Given the description of an element on the screen output the (x, y) to click on. 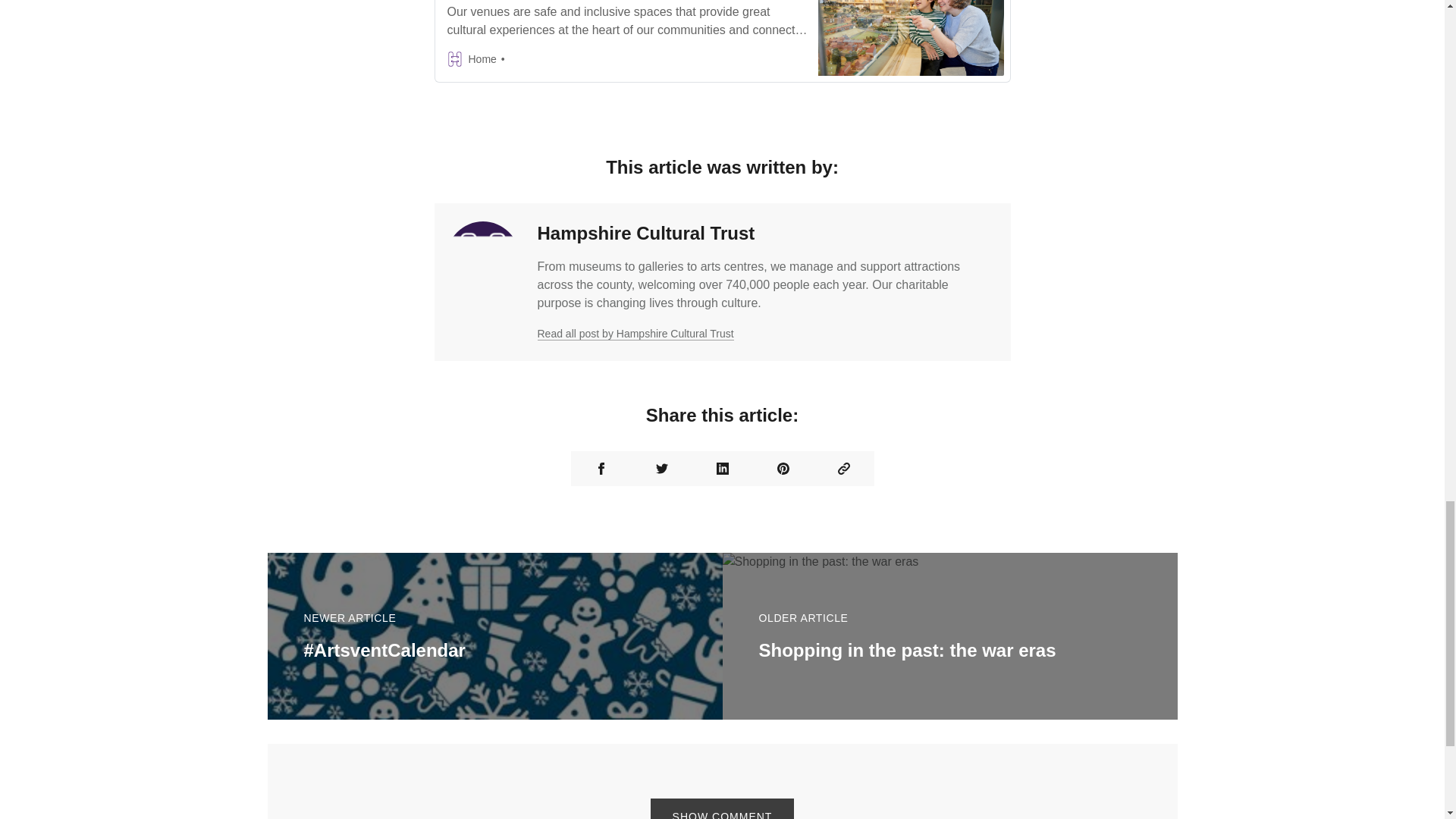
Read all post by Hampshire Cultural Trust (635, 333)
Share on Twitter (660, 468)
Copy the permalink (842, 468)
Share on Linkedin (721, 468)
SHOW COMMENT (722, 808)
Hampshire Cultural Trust (645, 232)
Share on Pinterest (782, 468)
Share on Facebook (600, 468)
Shopping in the past: the war eras (906, 649)
